Given the description of an element on the screen output the (x, y) to click on. 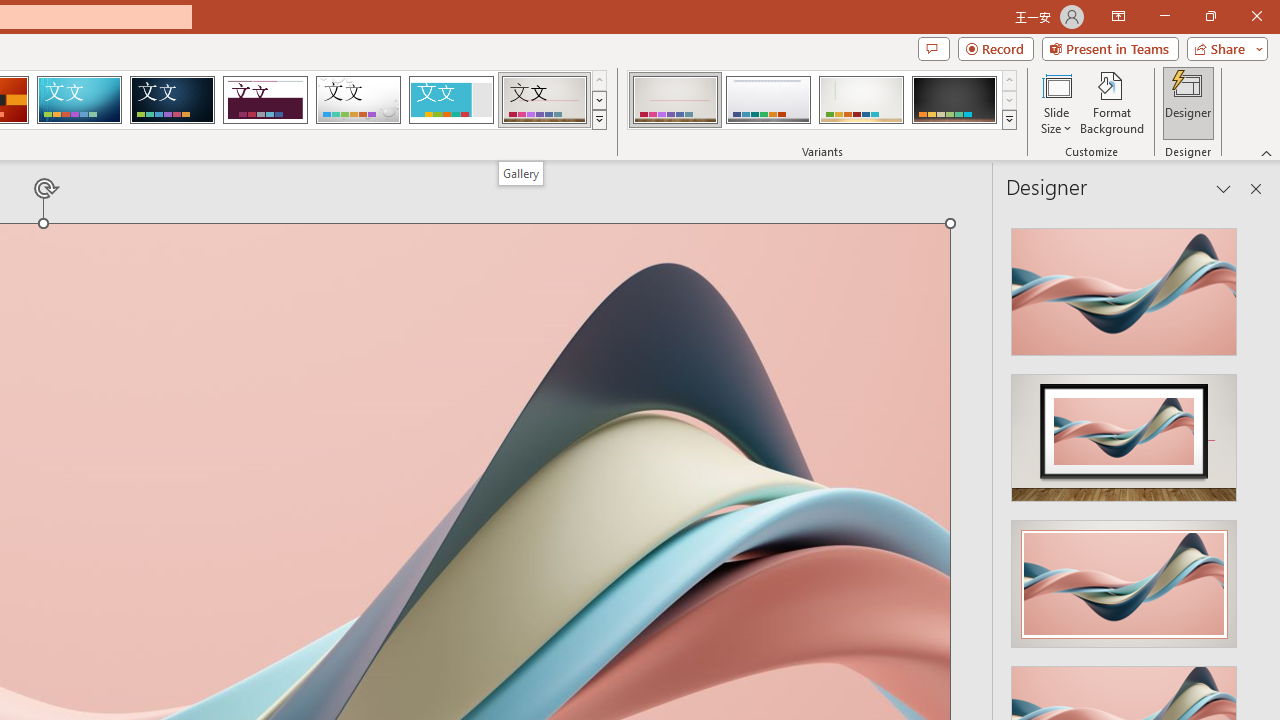
Damask (171, 100)
Gallery Variant 4 (953, 100)
